Given the description of an element on the screen output the (x, y) to click on. 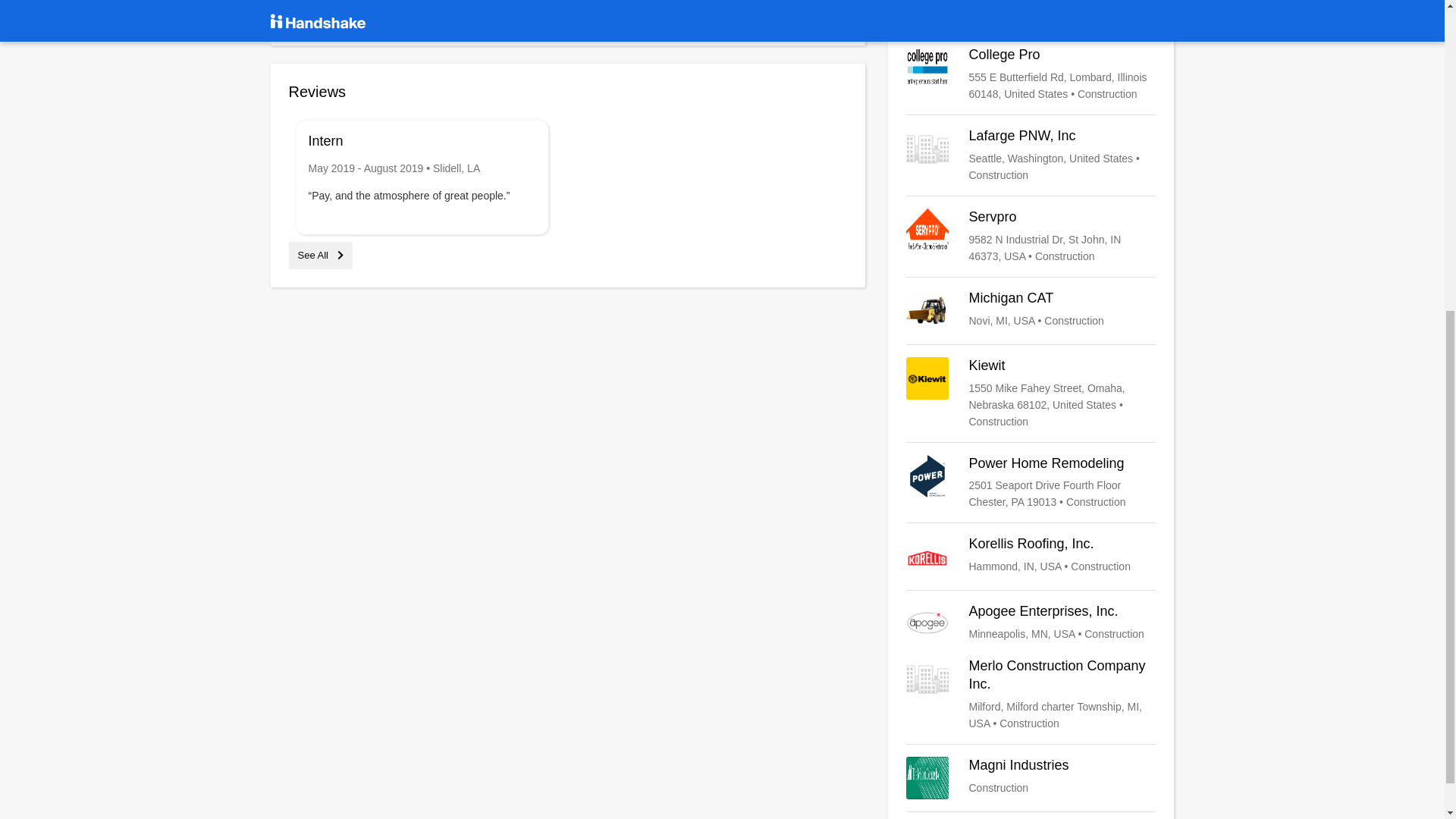
Korellis Roofing, Inc. (1030, 556)
Power Home Remodeling (1030, 483)
College Pro (1030, 73)
Apogee Enterprises, Inc. (1030, 623)
Lafarge PNW, Inc (1030, 155)
Michigan CAT (1030, 310)
Servpro (1030, 236)
Merlo Construction Company Inc. (1030, 694)
See All (1030, 777)
Magni Industries (320, 255)
Kiewit (1030, 777)
